Given the description of an element on the screen output the (x, y) to click on. 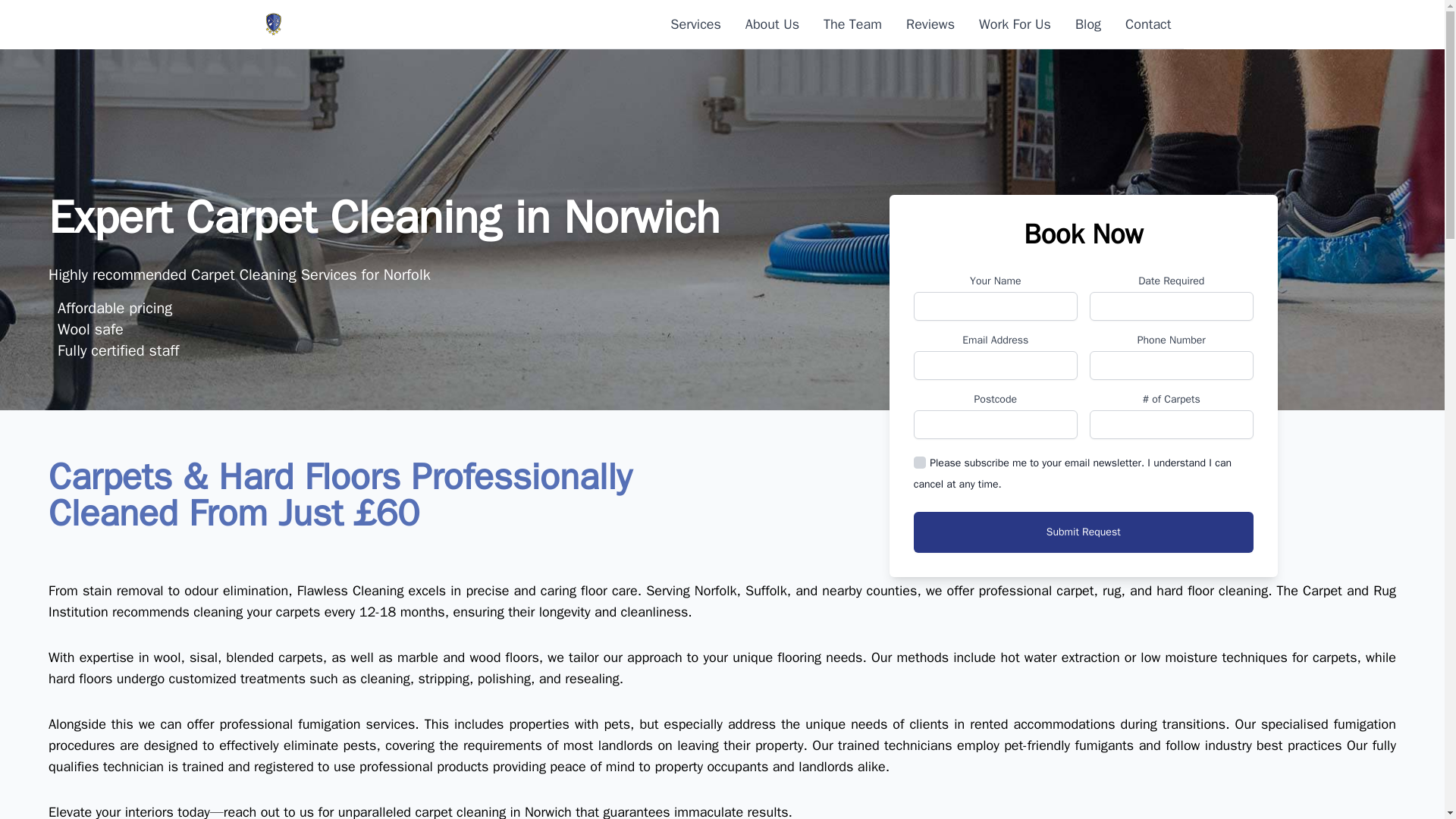
Services (694, 24)
Home links (272, 24)
The Team (853, 24)
Submit Request (1083, 531)
About Us (772, 24)
Reviews (930, 24)
Contact (1147, 24)
Work For Us (1014, 24)
